Given the description of an element on the screen output the (x, y) to click on. 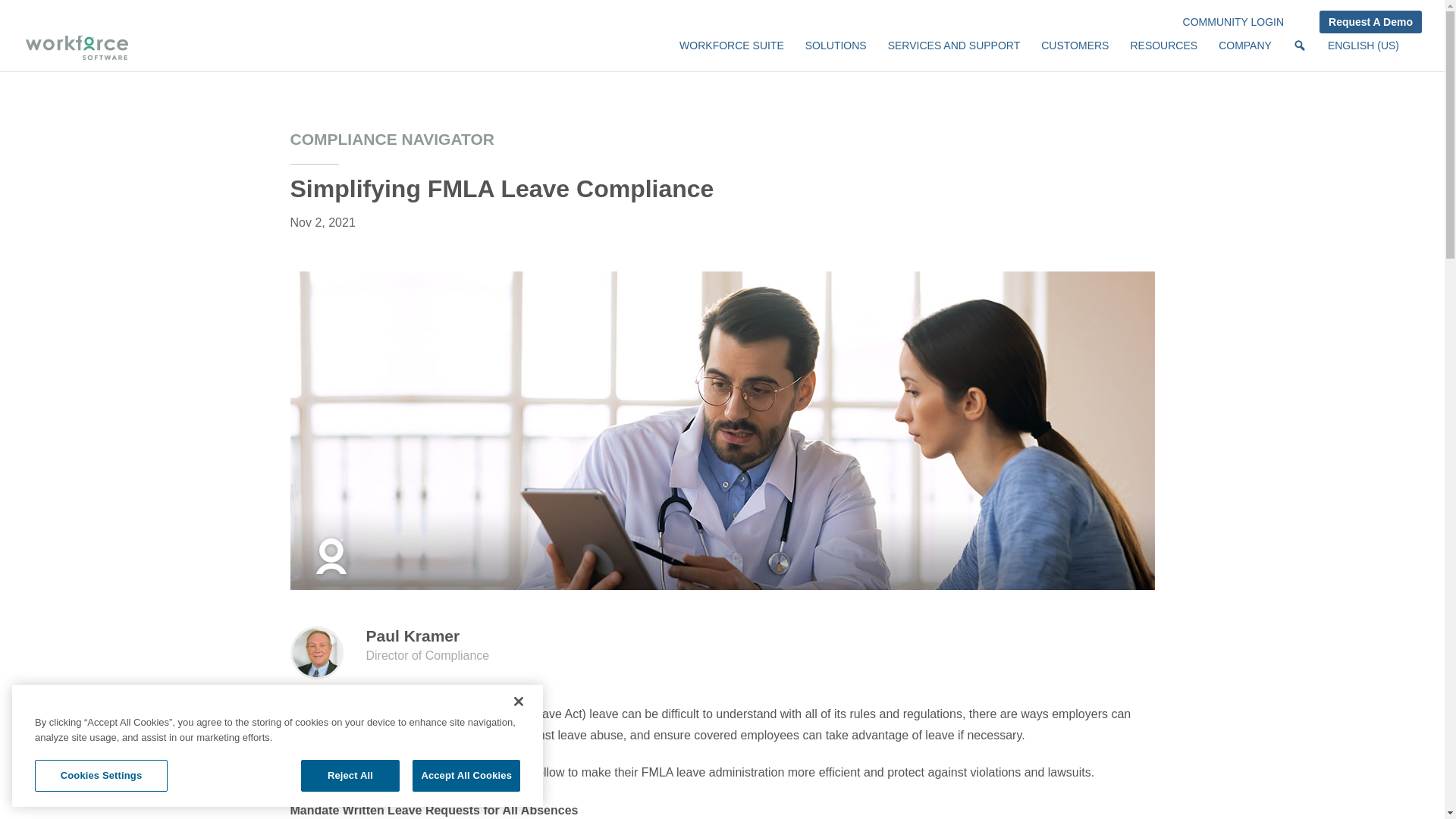
Request A Demo (1370, 21)
SOLUTIONS (836, 51)
Resources (1164, 51)
WORKFORCE SUITE (731, 51)
COMMUNITY LOGIN (1233, 26)
About WorkForce Software (1245, 51)
Meet WorkForce (731, 51)
